Given the description of an element on the screen output the (x, y) to click on. 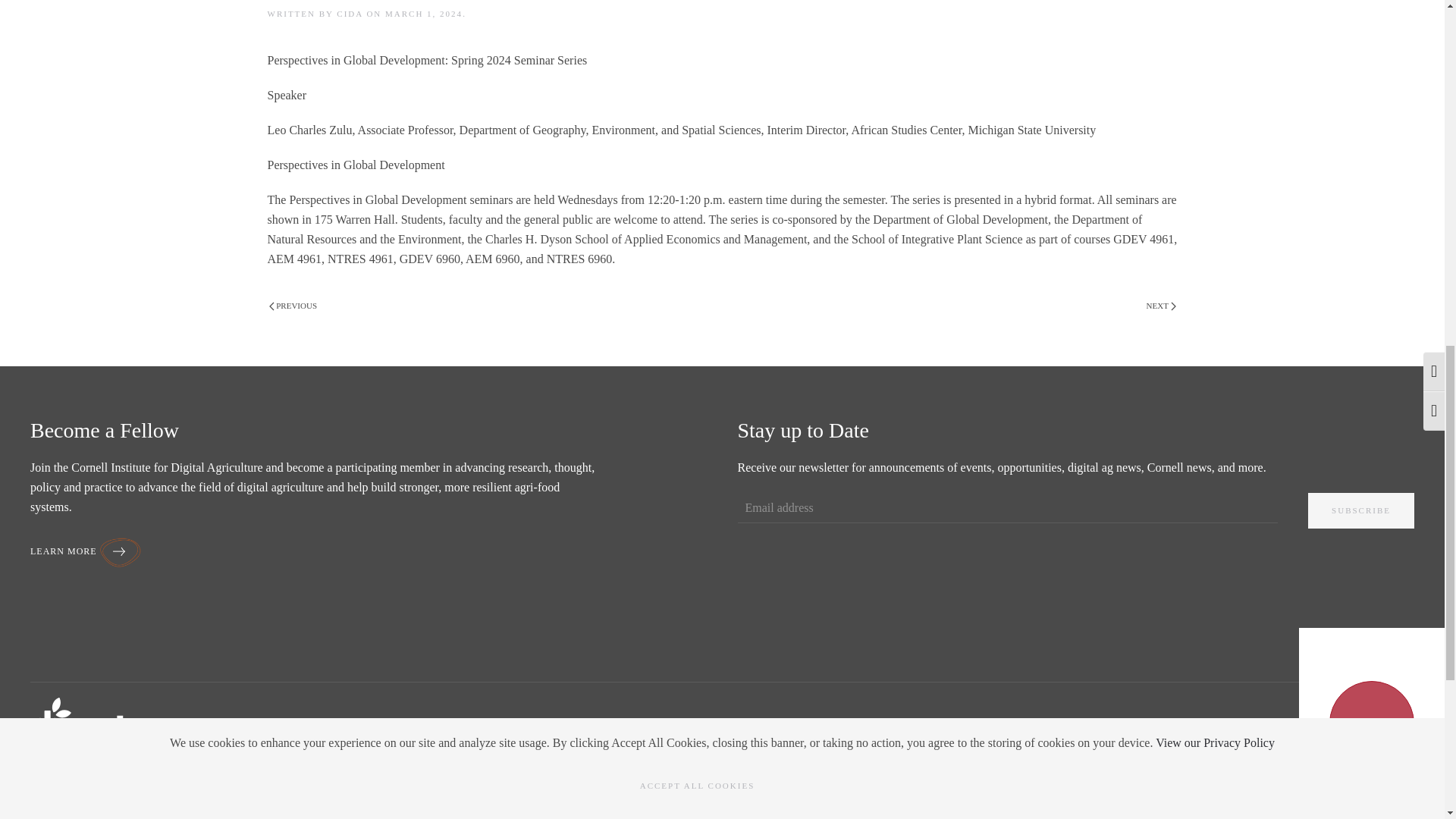
CIDA (349, 13)
Overview (50, 816)
PREVIOUS (292, 306)
SUBSCRIBE (1360, 510)
LEARN MORE (85, 551)
ABOUT (48, 788)
NEXT (1160, 306)
